Given the description of an element on the screen output the (x, y) to click on. 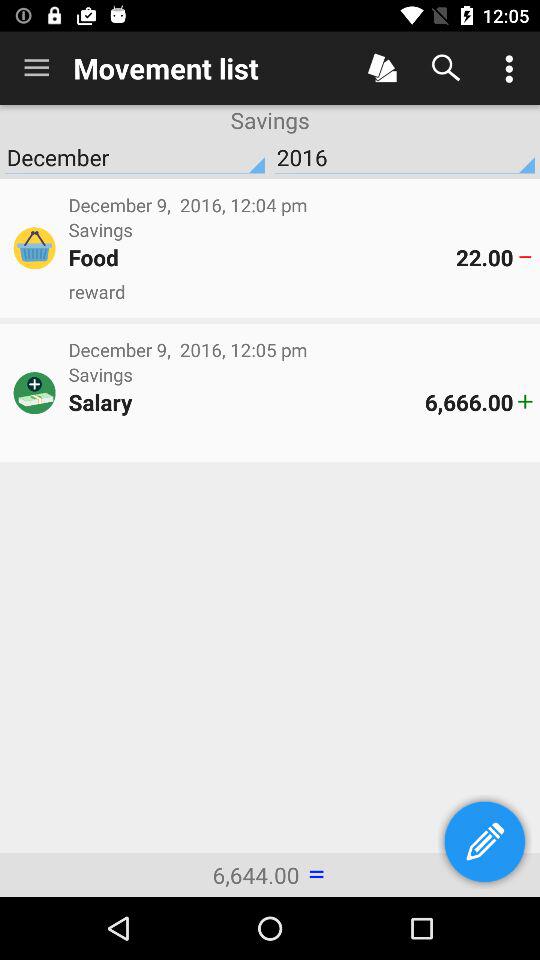
options (508, 67)
